Given the description of an element on the screen output the (x, y) to click on. 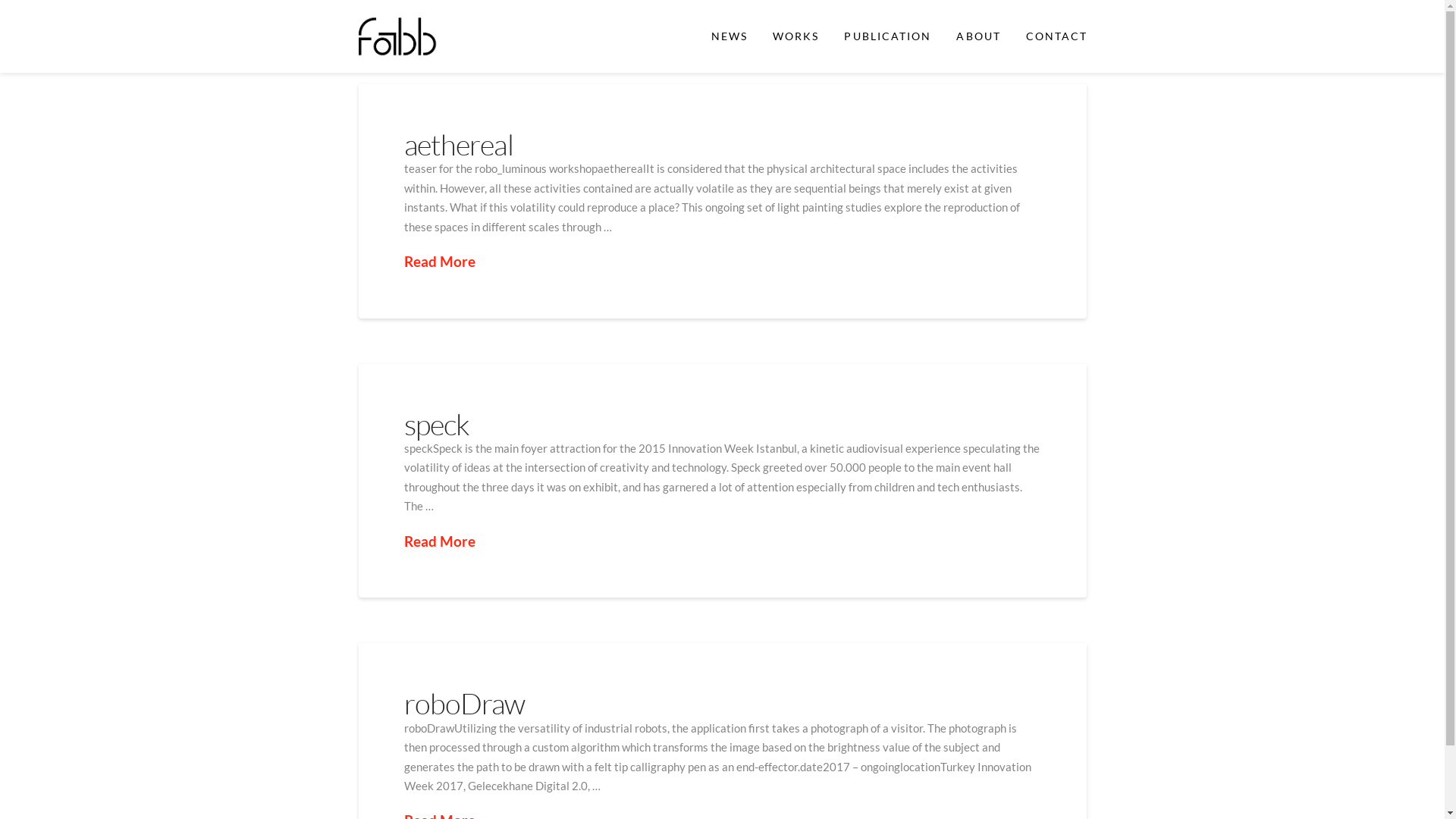
Read More Element type: text (438, 541)
NEWS Element type: text (728, 36)
speck Element type: text (436, 424)
WORKS Element type: text (795, 36)
ABOUT Element type: text (977, 36)
aethereal Element type: text (457, 144)
PUBLICATION Element type: text (887, 36)
roboDraw Element type: text (463, 703)
CONTACT Element type: text (1055, 36)
Read More Element type: text (438, 261)
